Given the description of an element on the screen output the (x, y) to click on. 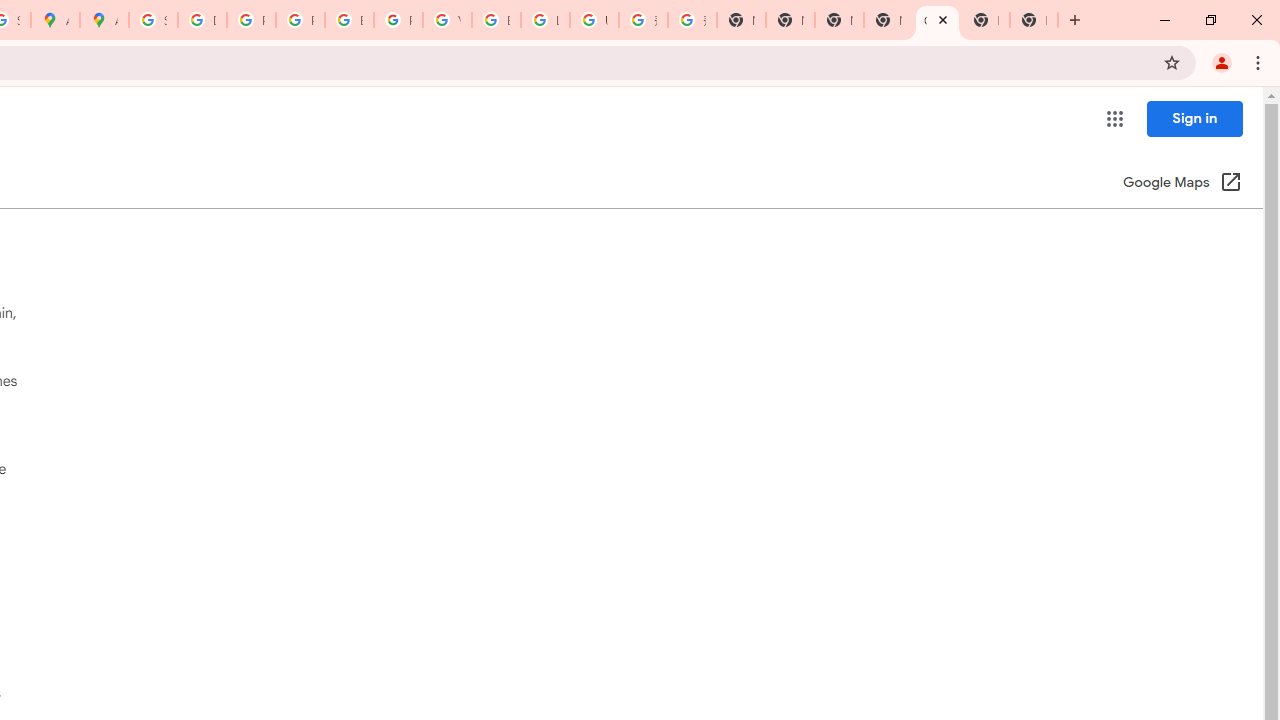
Crisis-related alerts in Google Maps - Google Maps Help (937, 20)
Google Maps (Open in a new window) (1182, 183)
Privacy Help Center - Policies Help (251, 20)
New Tab (985, 20)
New Tab (888, 20)
Privacy Help Center - Policies Help (300, 20)
